Given the description of an element on the screen output the (x, y) to click on. 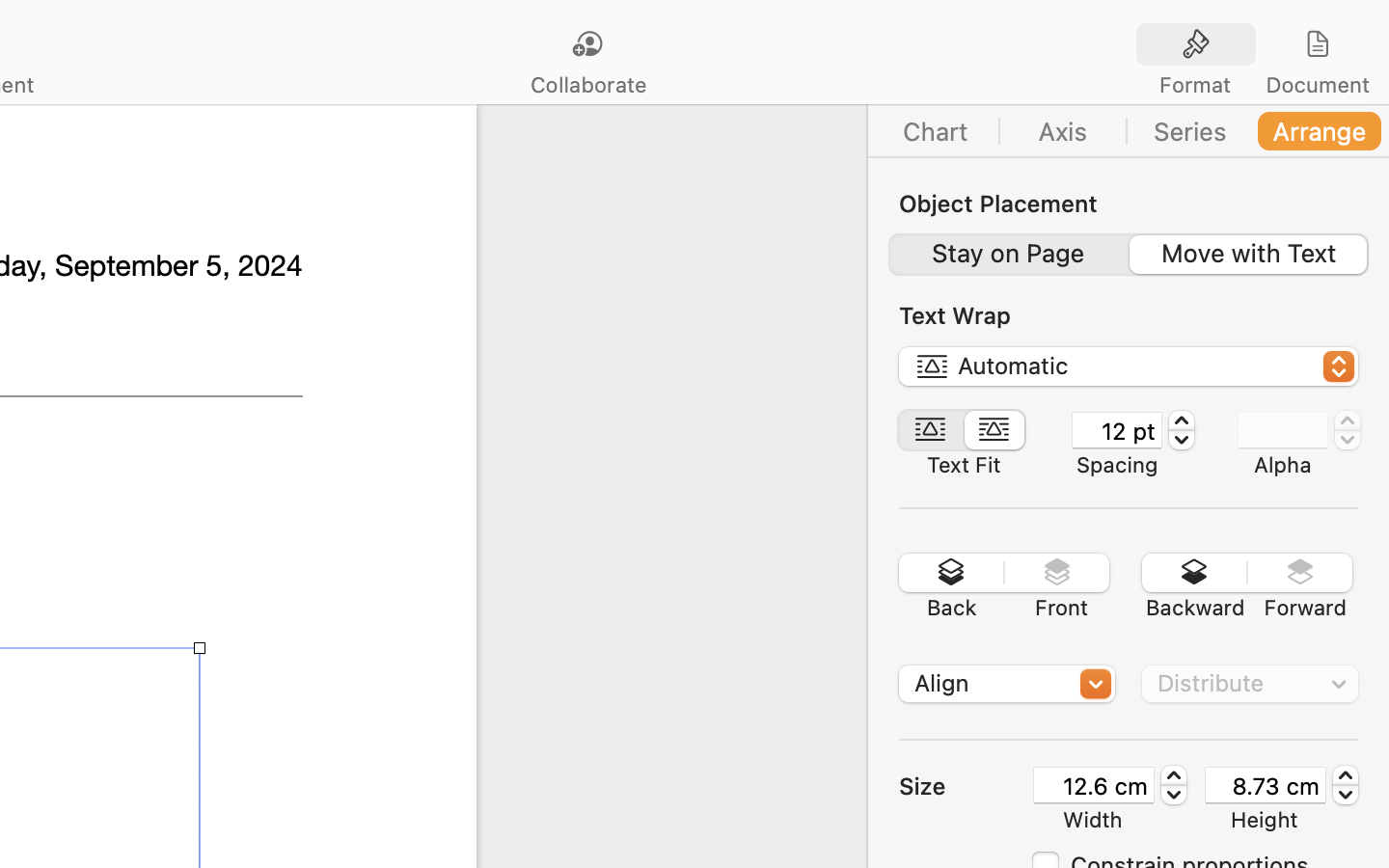
12 pt Element type: AXTextField (1116, 429)
<AXUIElement 0x120a4a580> {pid=1482} Element type: AXRadioGroup (963, 429)
247.3510284423828 Element type: AXIncrementor (1345, 785)
12.0 Element type: AXIncrementor (1181, 430)
Text Wrap Element type: AXStaticText (954, 314)
